Given the description of an element on the screen output the (x, y) to click on. 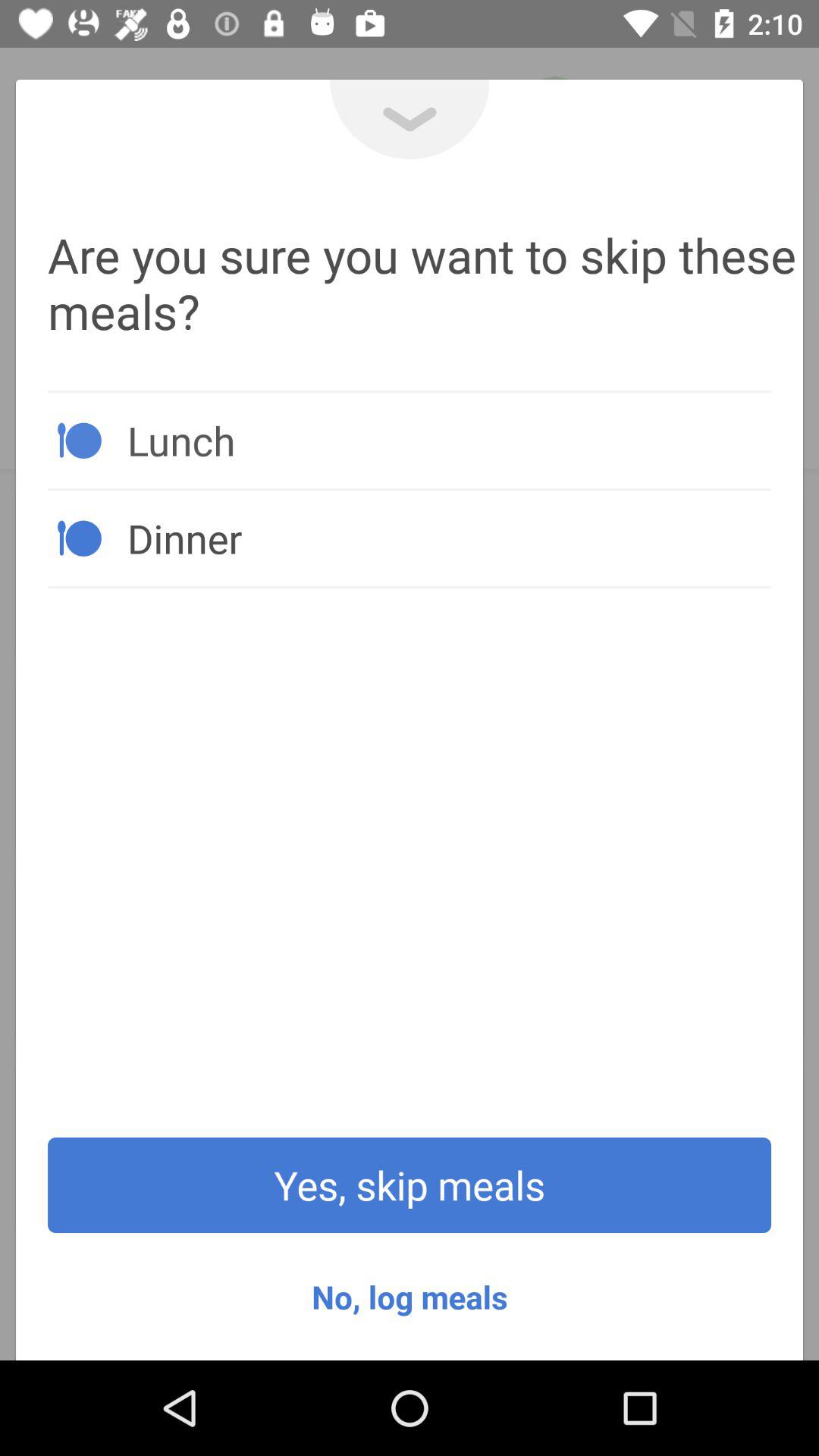
swipe to no, log meals item (409, 1296)
